Given the description of an element on the screen output the (x, y) to click on. 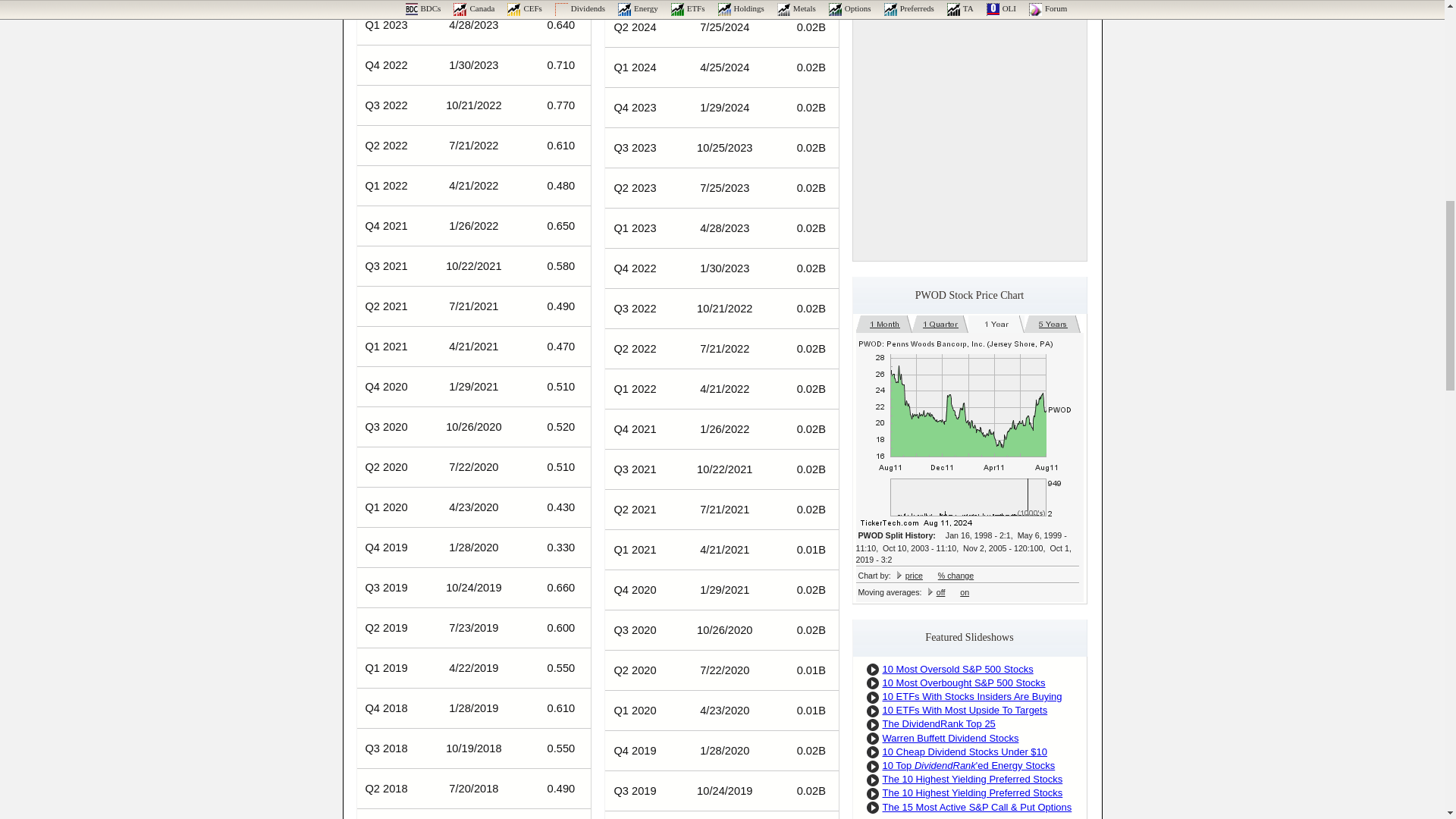
off (940, 592)
on (964, 592)
price (914, 574)
10 ETFs With Stocks Insiders Are Buying (972, 696)
10 ETFs With Most Upside To Targets (965, 709)
